Given the description of an element on the screen output the (x, y) to click on. 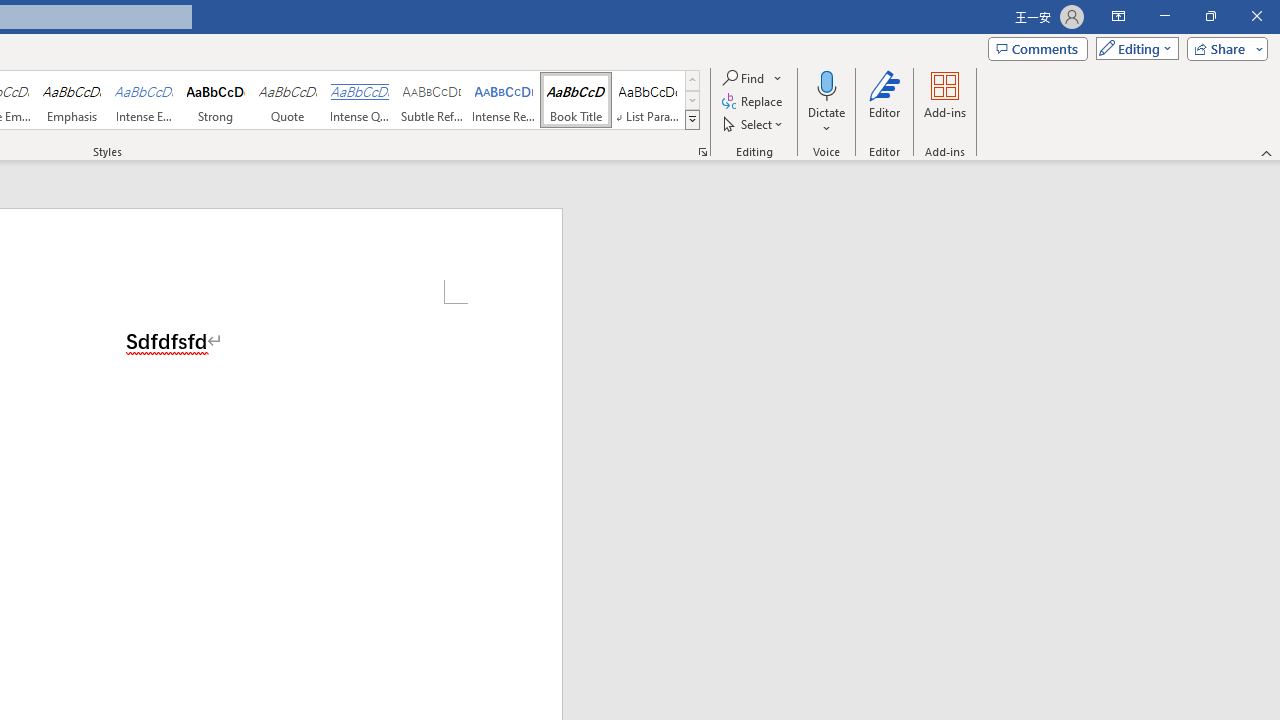
Mode (1133, 47)
Collapse the Ribbon (1267, 152)
Share (1223, 48)
Restore Down (1210, 16)
Dictate (826, 102)
Find (744, 78)
Styles... (702, 151)
Subtle Reference (431, 100)
Intense Reference (504, 100)
Dictate (826, 84)
Intense Quote (359, 100)
Strong (216, 100)
Minimize (1164, 16)
Select (754, 124)
